Given the description of an element on the screen output the (x, y) to click on. 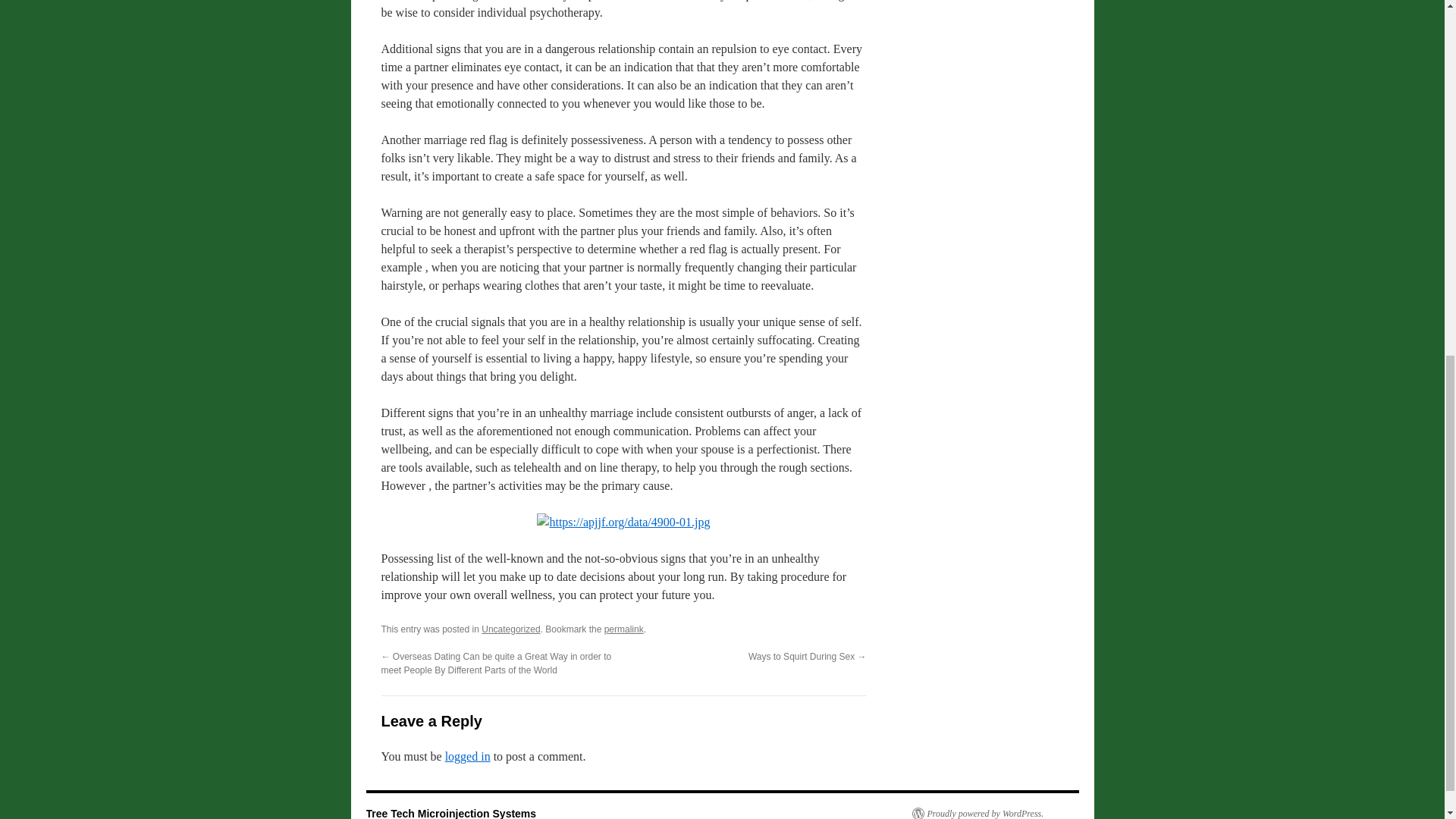
permalink (623, 629)
Permalink to How to Spot Red Flags in Relationships (623, 629)
logged in (467, 756)
Uncategorized (510, 629)
